Given the description of an element on the screen output the (x, y) to click on. 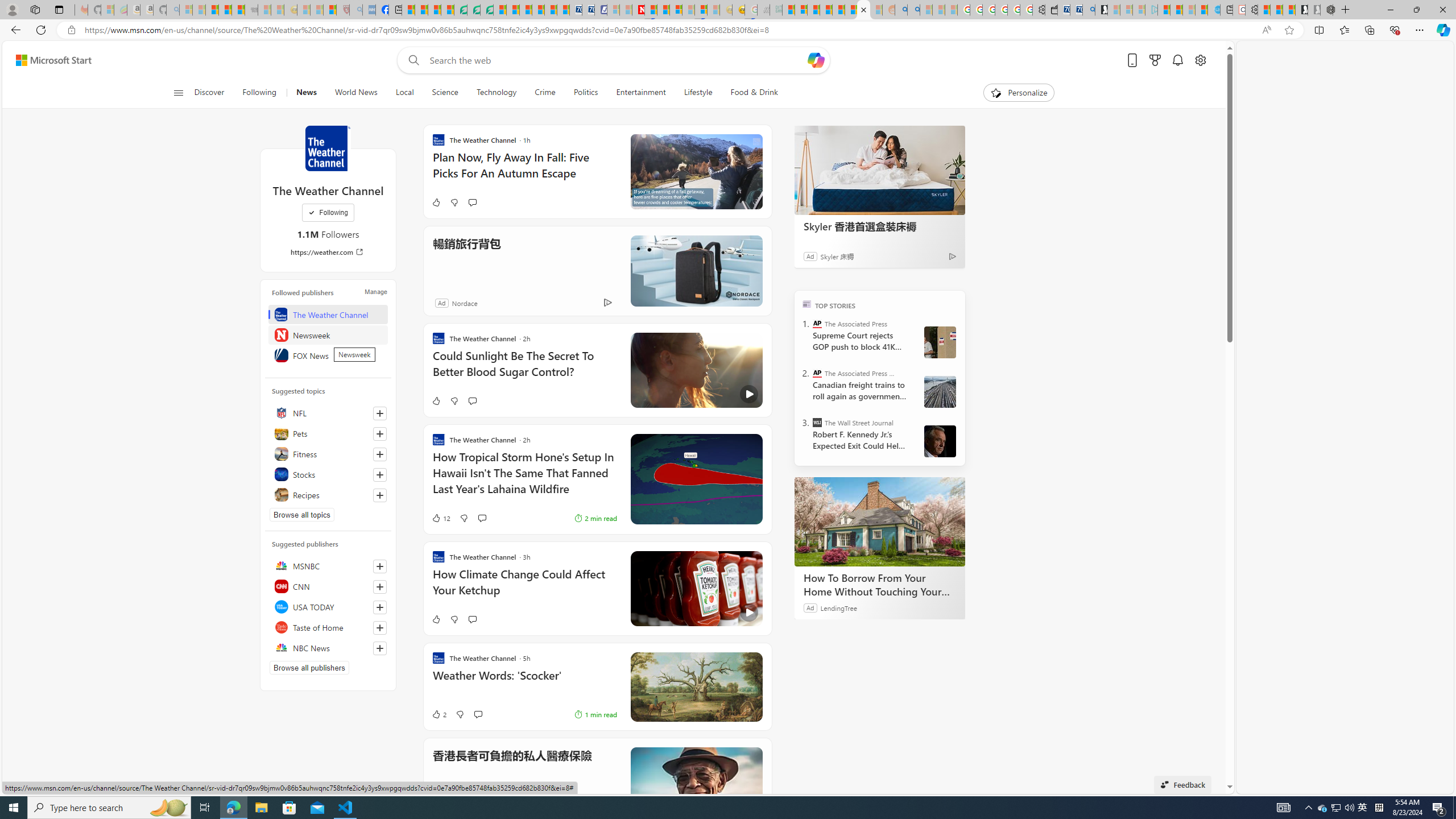
The Weather Channel (327, 148)
Fitness (327, 453)
